Given the description of an element on the screen output the (x, y) to click on. 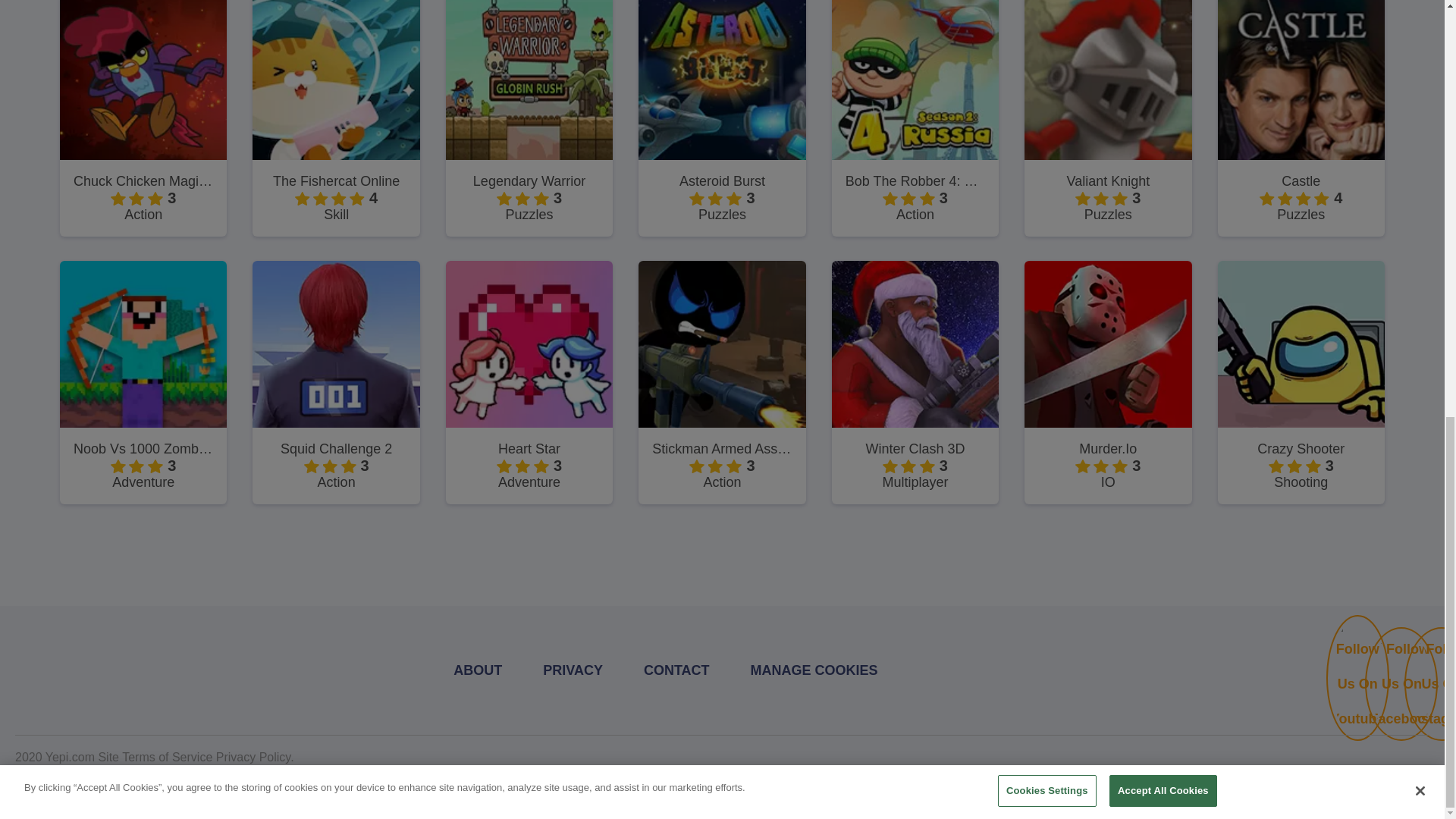
The Fishercat Online (336, 181)
Chuck Chicken Magic Egg (143, 181)
